Given the description of an element on the screen output the (x, y) to click on. 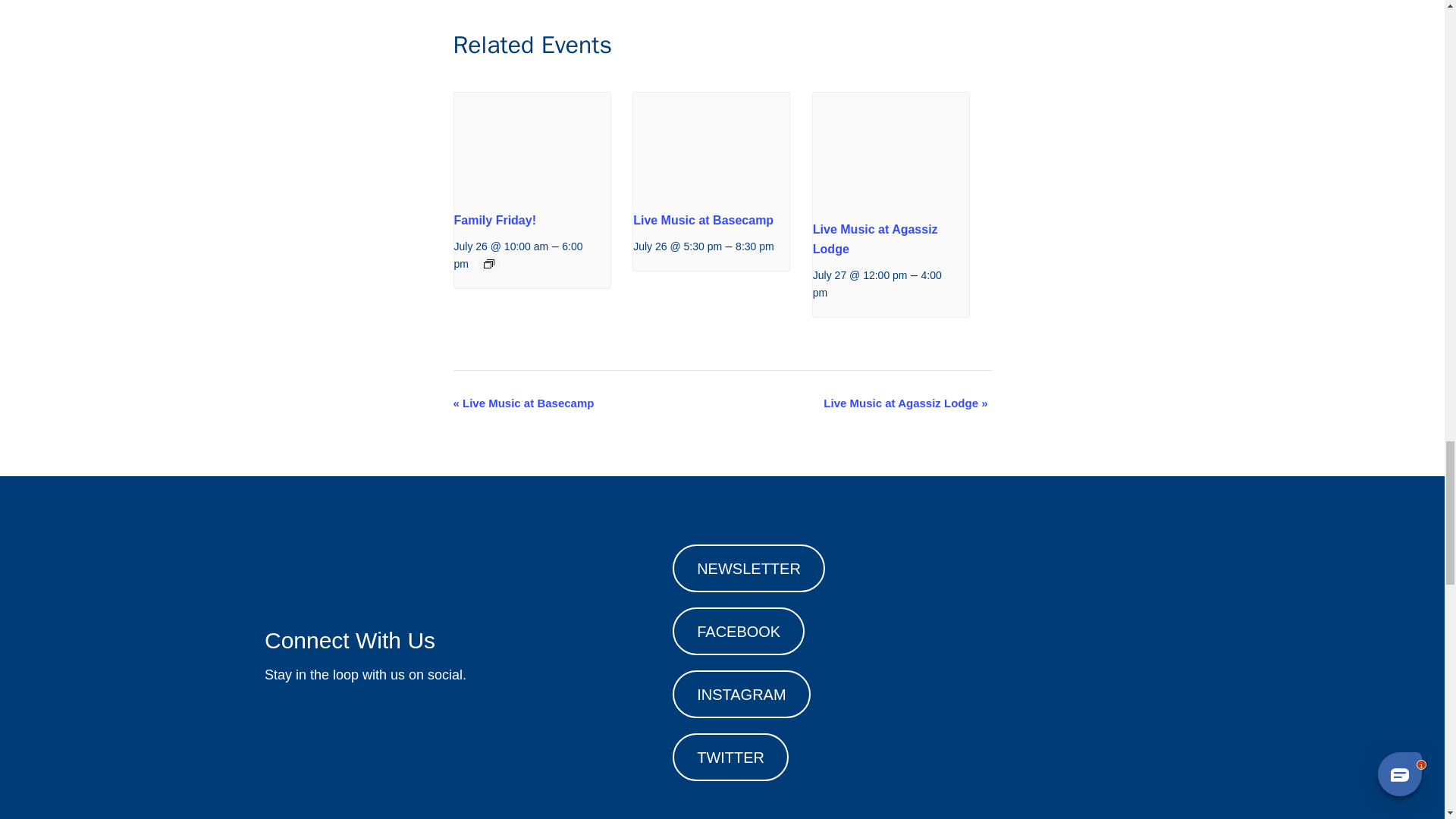
Event Series (489, 263)
